Given the description of an element on the screen output the (x, y) to click on. 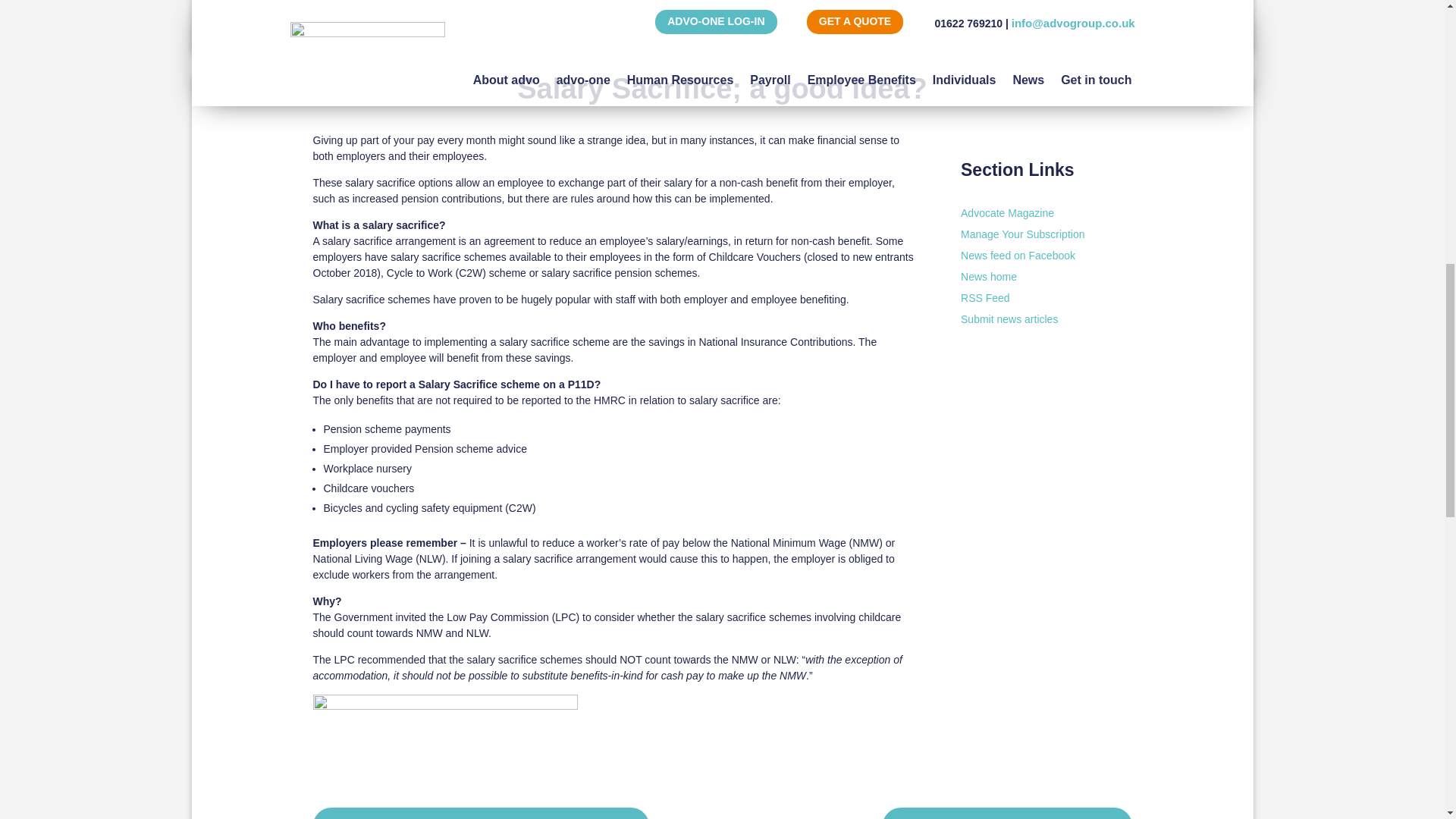
RSS Feed (985, 297)
Manage Your Subscription (1022, 234)
Advocate Magazine (1007, 213)
News home (988, 276)
Submit news articles (1009, 318)
News feed on Facebook (1017, 255)
